Given the description of an element on the screen output the (x, y) to click on. 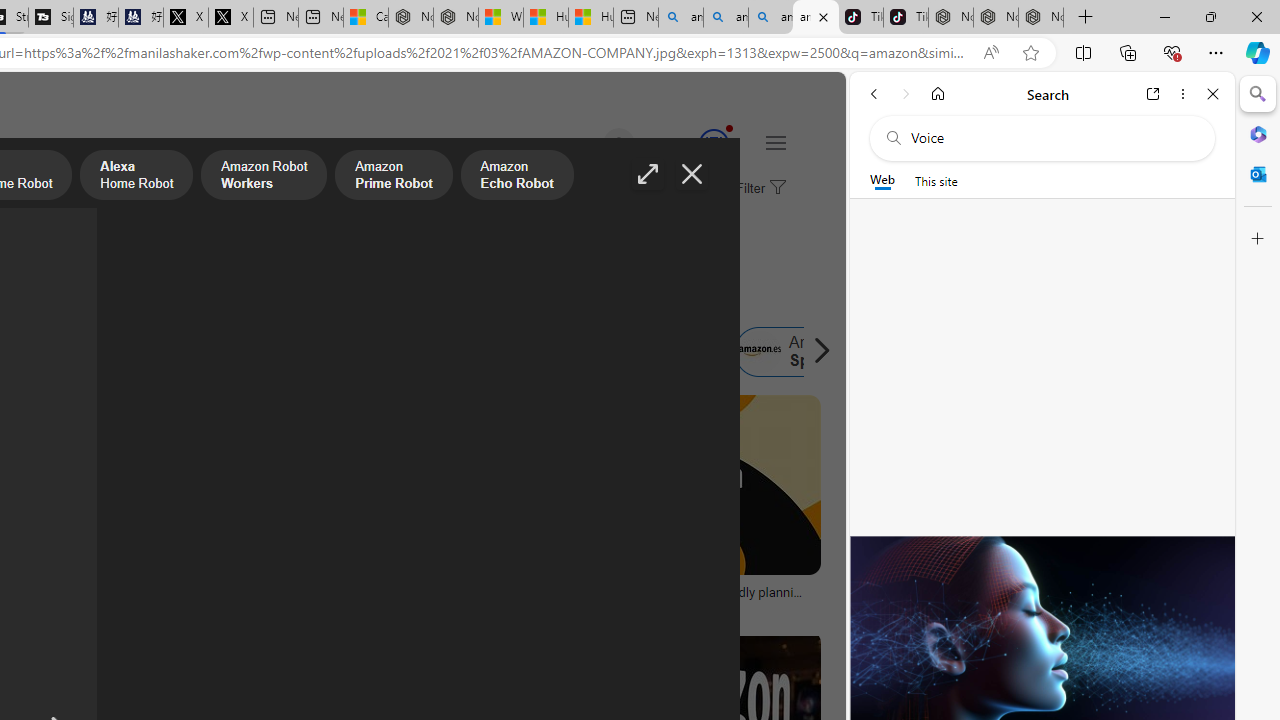
Amazon Echo Robot (516, 177)
Full screen (648, 173)
Filter (758, 189)
downdetector.ae (368, 606)
TikTok (905, 17)
Image result for amazon (685, 485)
logopng.com.br (98, 606)
Settings and quick links (775, 142)
Amazon Prime Robot (394, 177)
